Given the description of an element on the screen output the (x, y) to click on. 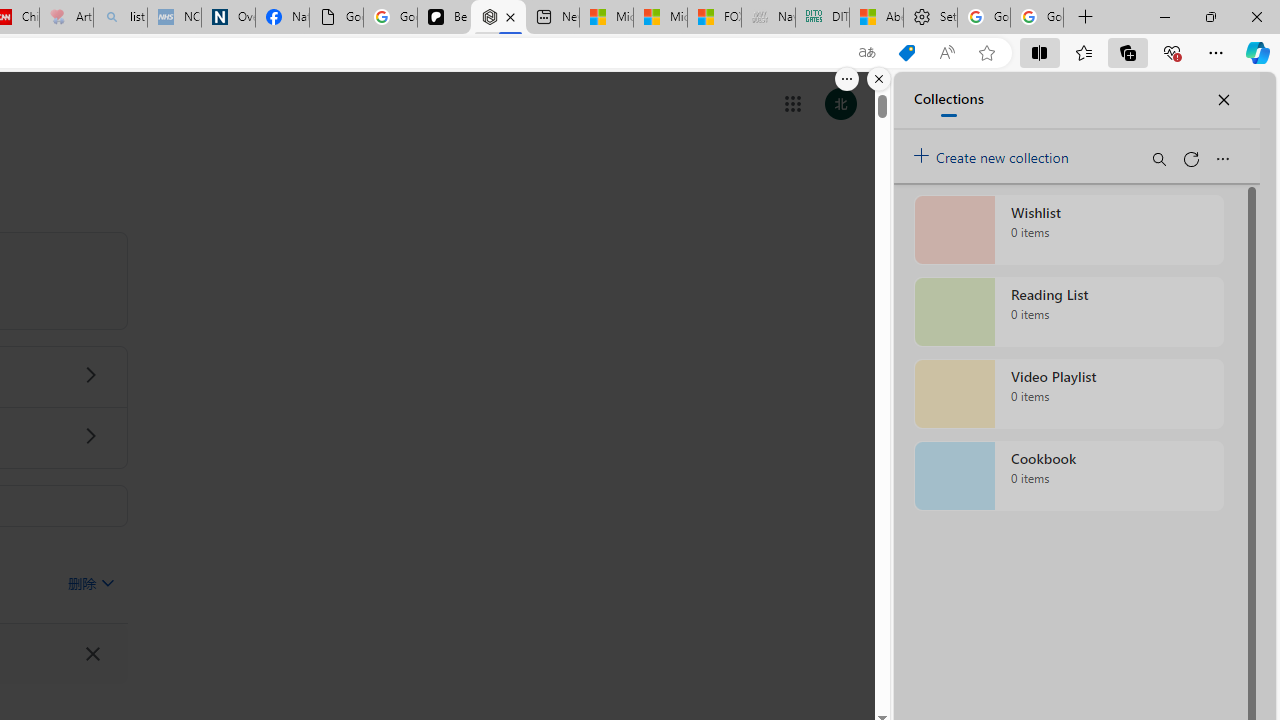
Show translate options (867, 53)
FOX News - MSN (714, 17)
Close split screen. (878, 79)
